Given the description of an element on the screen output the (x, y) to click on. 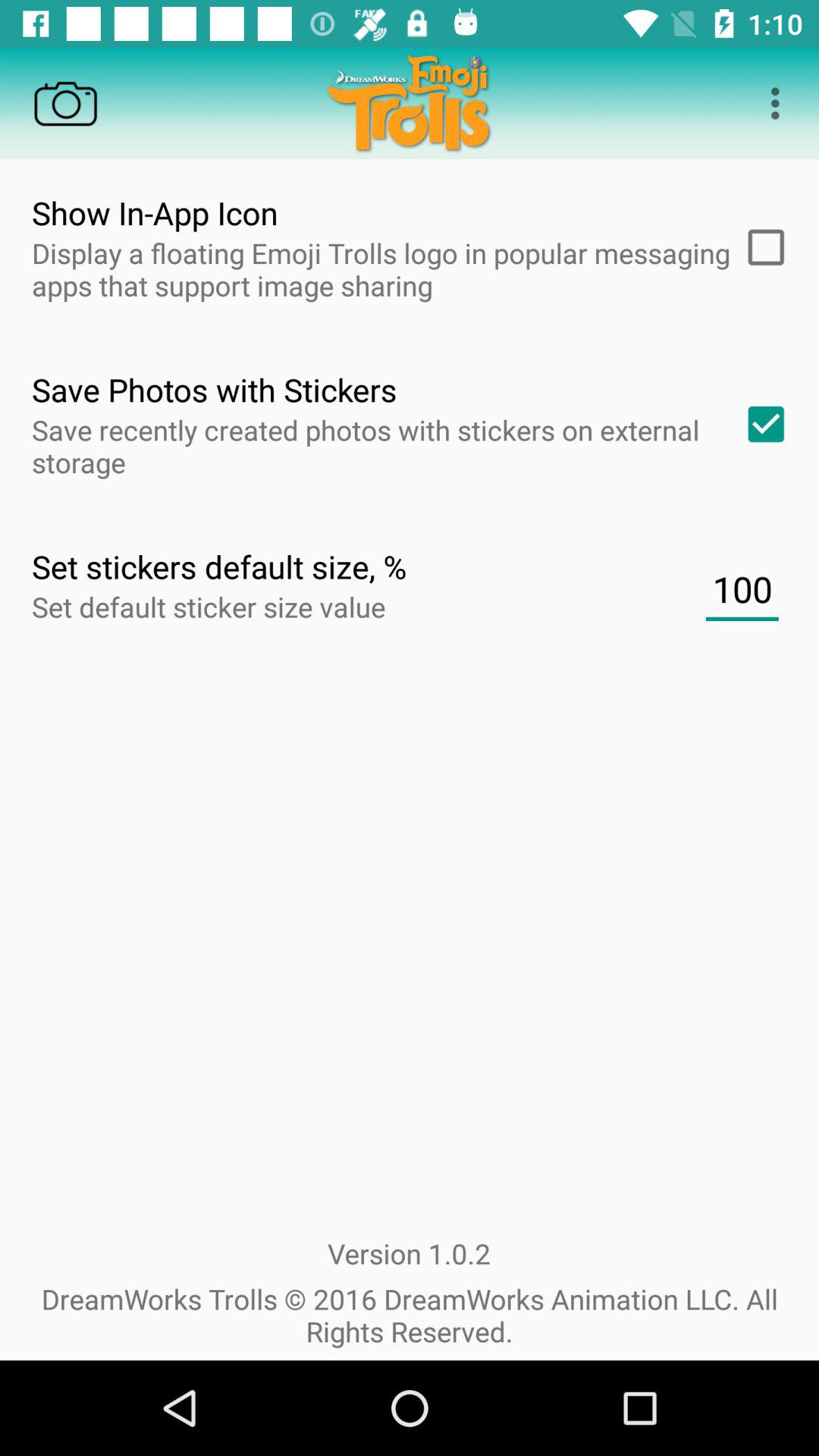
show in-app icon (760, 247)
